Given the description of an element on the screen output the (x, y) to click on. 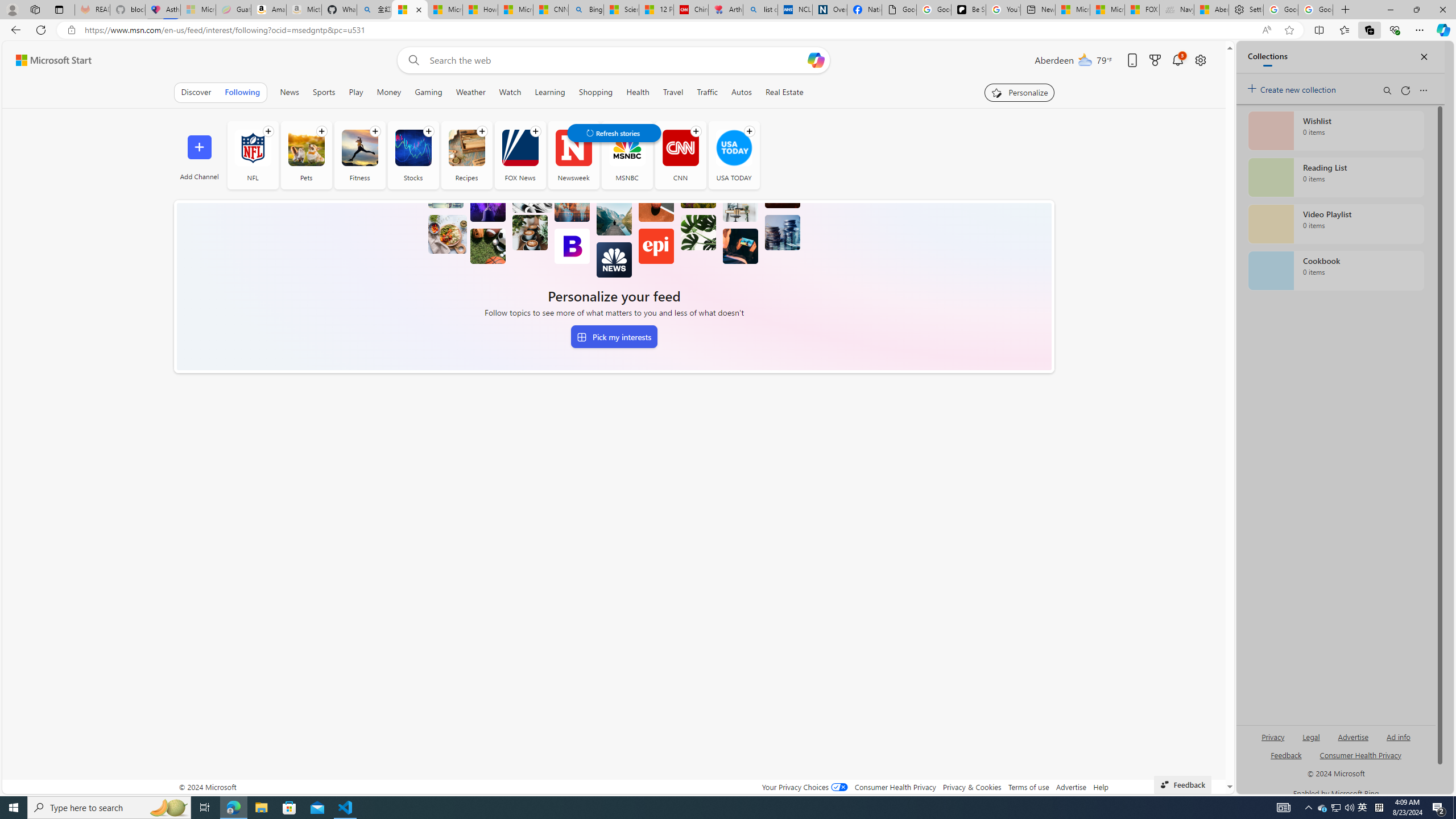
Discover (195, 92)
Privacy & Cookies (971, 786)
Skip to footer (46, 59)
Workspaces (34, 9)
Personalize your feed" (1019, 92)
Travel (672, 92)
Feedback (1182, 784)
Weather (470, 92)
Recipes (466, 147)
Sports (323, 92)
Open settings (1199, 60)
News (288, 92)
